Given the description of an element on the screen output the (x, y) to click on. 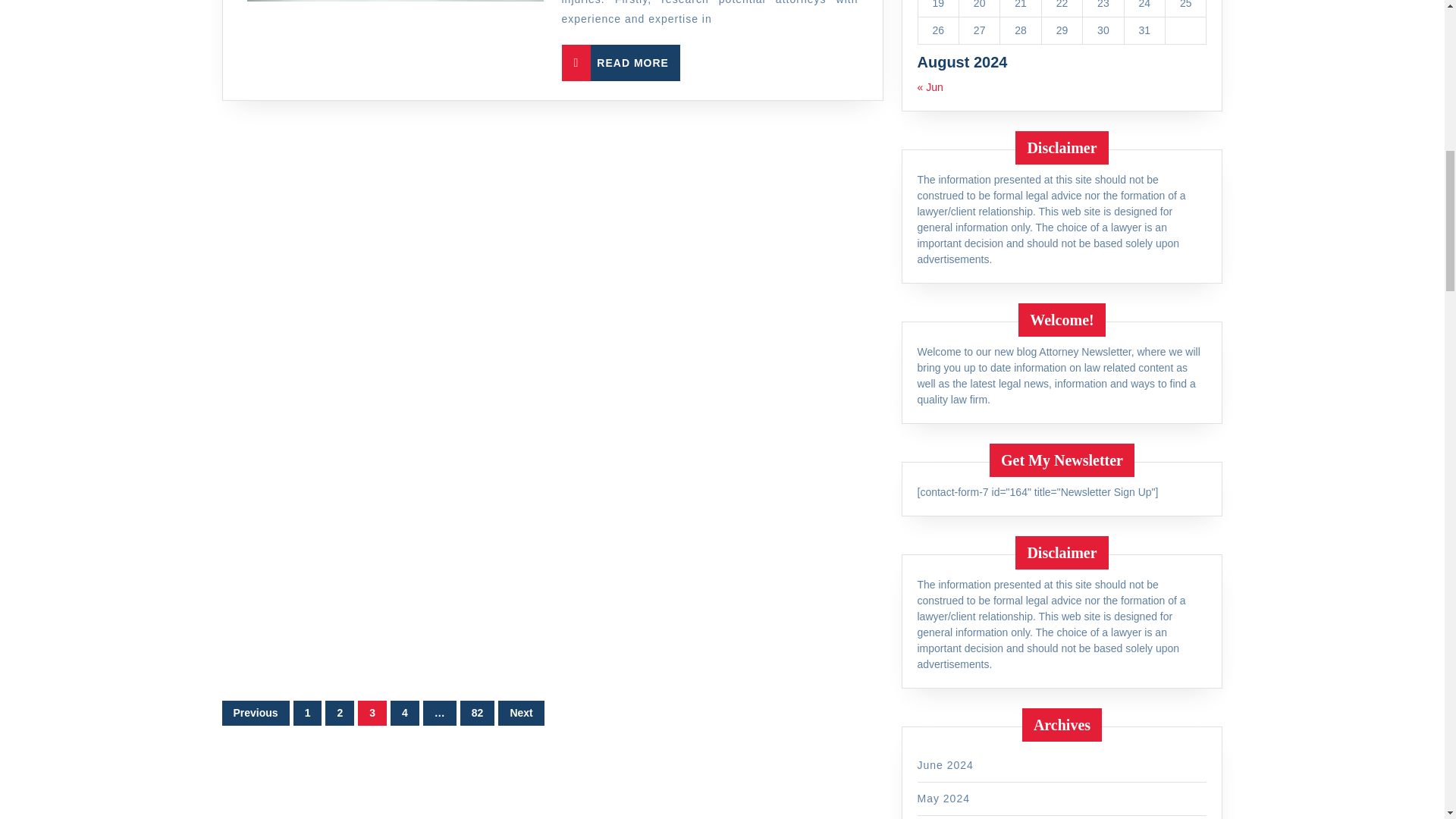
Previous (254, 713)
4 (404, 713)
82 (477, 713)
2 (466, 63)
1 (338, 713)
Next (307, 713)
